Given the description of an element on the screen output the (x, y) to click on. 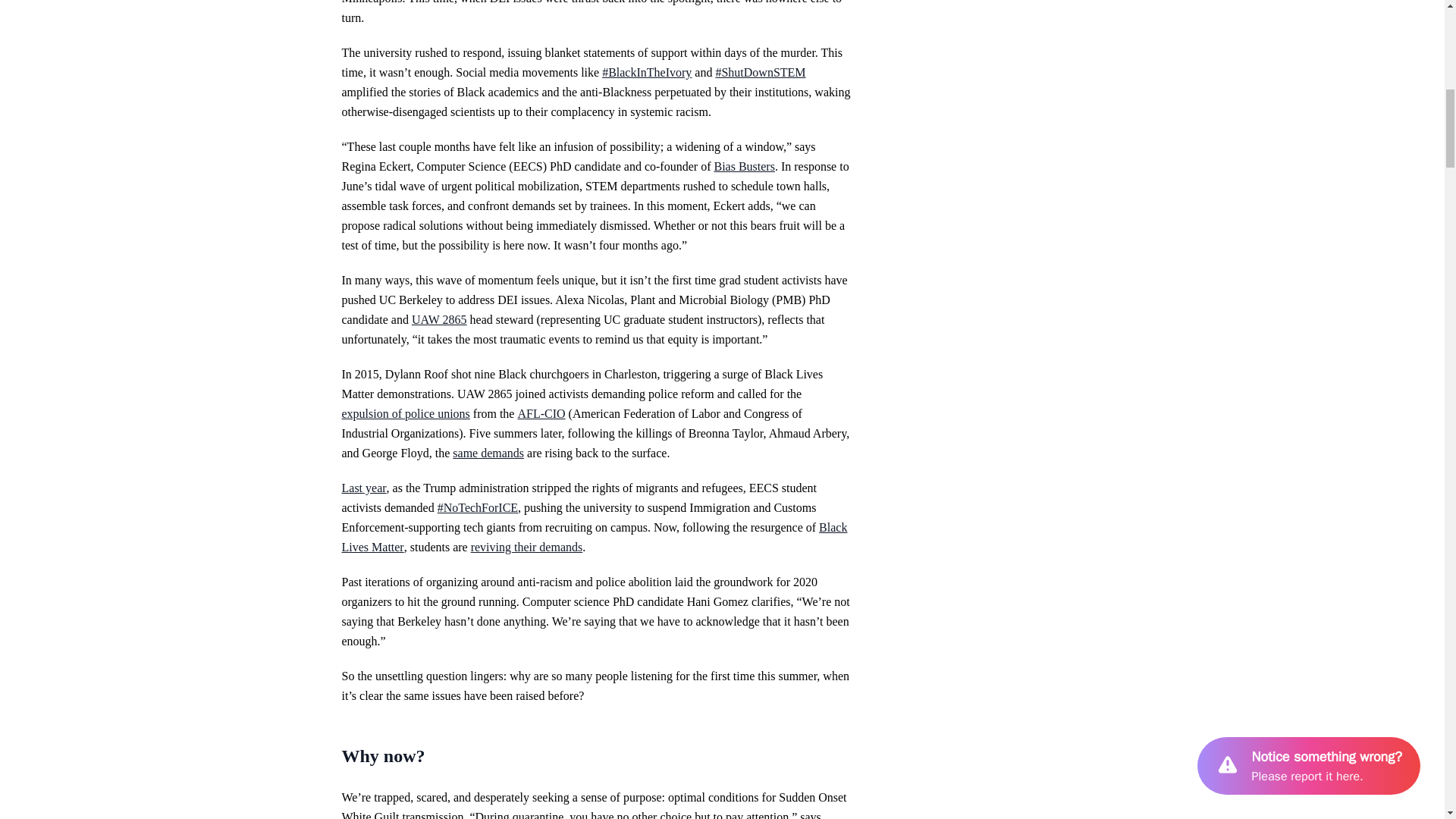
Bias Busters (743, 165)
Last year (362, 487)
expulsion of police unions (404, 413)
reviving their demands (526, 546)
same demands (488, 452)
Black Lives Matter (593, 536)
UAW 2865 (439, 318)
AFL-CIO (540, 413)
